Given the description of an element on the screen output the (x, y) to click on. 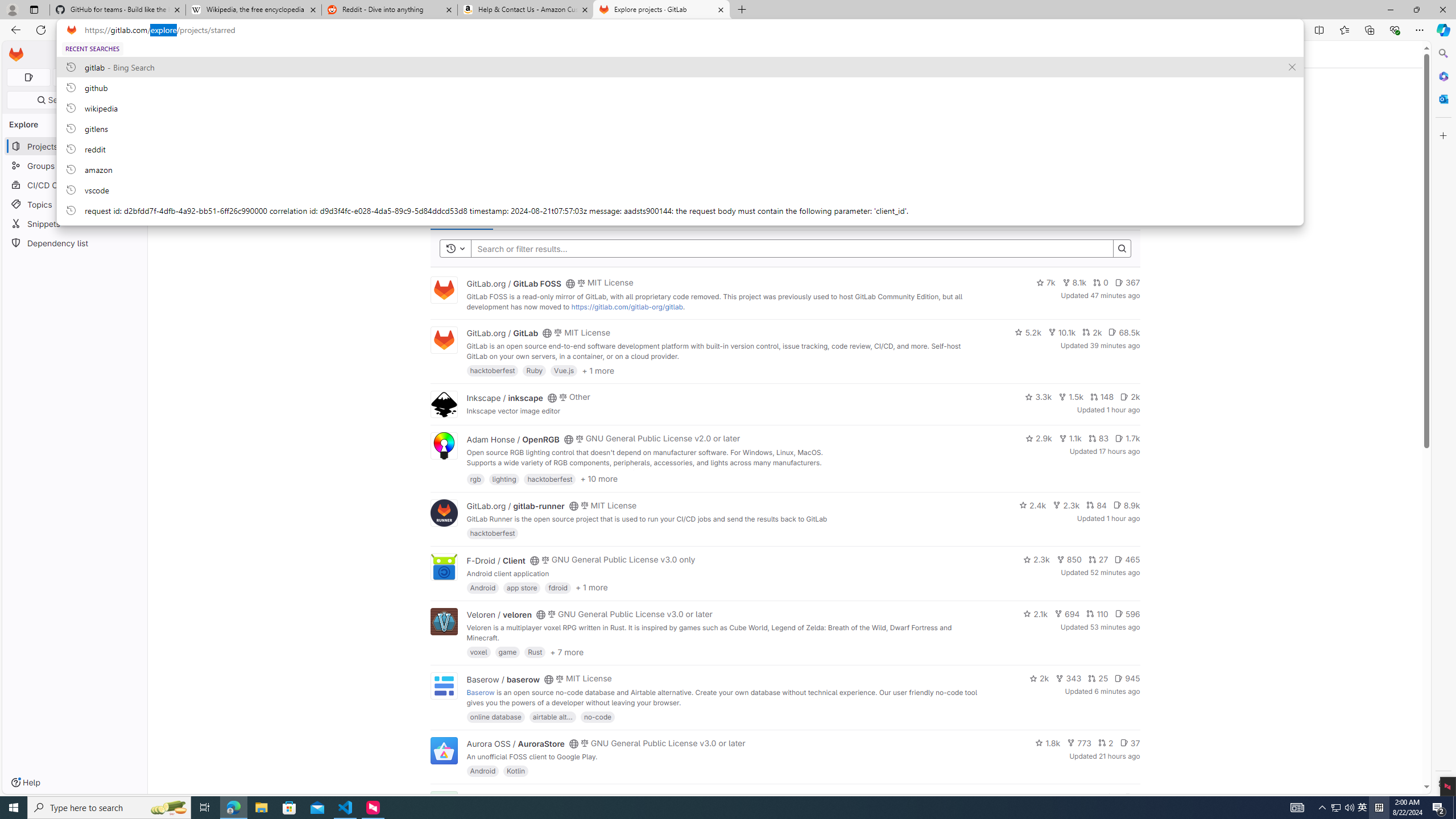
1.4k (1054, 797)
Explore (173, 53)
Aurora OSS / AuroraStore (514, 743)
Primary navigation sidebar (94, 54)
Help & Contact Us - Amazon Customer Service (525, 9)
27 (1097, 559)
GitLab.org / GitLab (501, 333)
voxel (478, 651)
465 (1127, 559)
68.5k (1124, 331)
New project (1110, 185)
app store (521, 587)
